Given the description of an element on the screen output the (x, y) to click on. 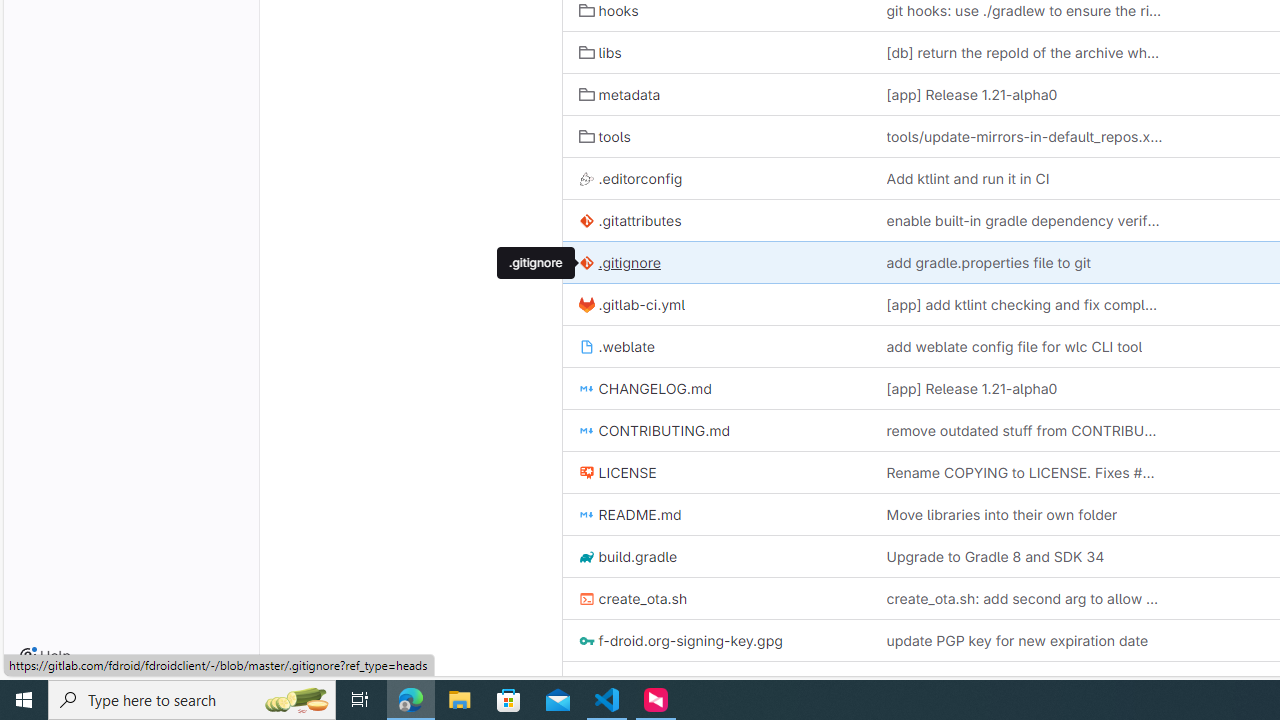
.editorconfig (630, 178)
[app] add ktlint checking and fix complaints it has (1024, 304)
CHANGELOG.md (715, 388)
add weblate config file for wlc CLI tool (1014, 346)
Move libraries into their own folder (1024, 514)
.gitlab-ci.yml (715, 304)
f-droid.org-signing-key.gpg (680, 641)
Rename COPYING to LICENSE. Fixes #384 (1024, 472)
hooks (608, 11)
.gitlab-ci.yml (632, 304)
libs (715, 52)
remove outdated stuff from CONTRIBUTING.md (1024, 430)
.gitattributes (715, 219)
